Given the description of an element on the screen output the (x, y) to click on. 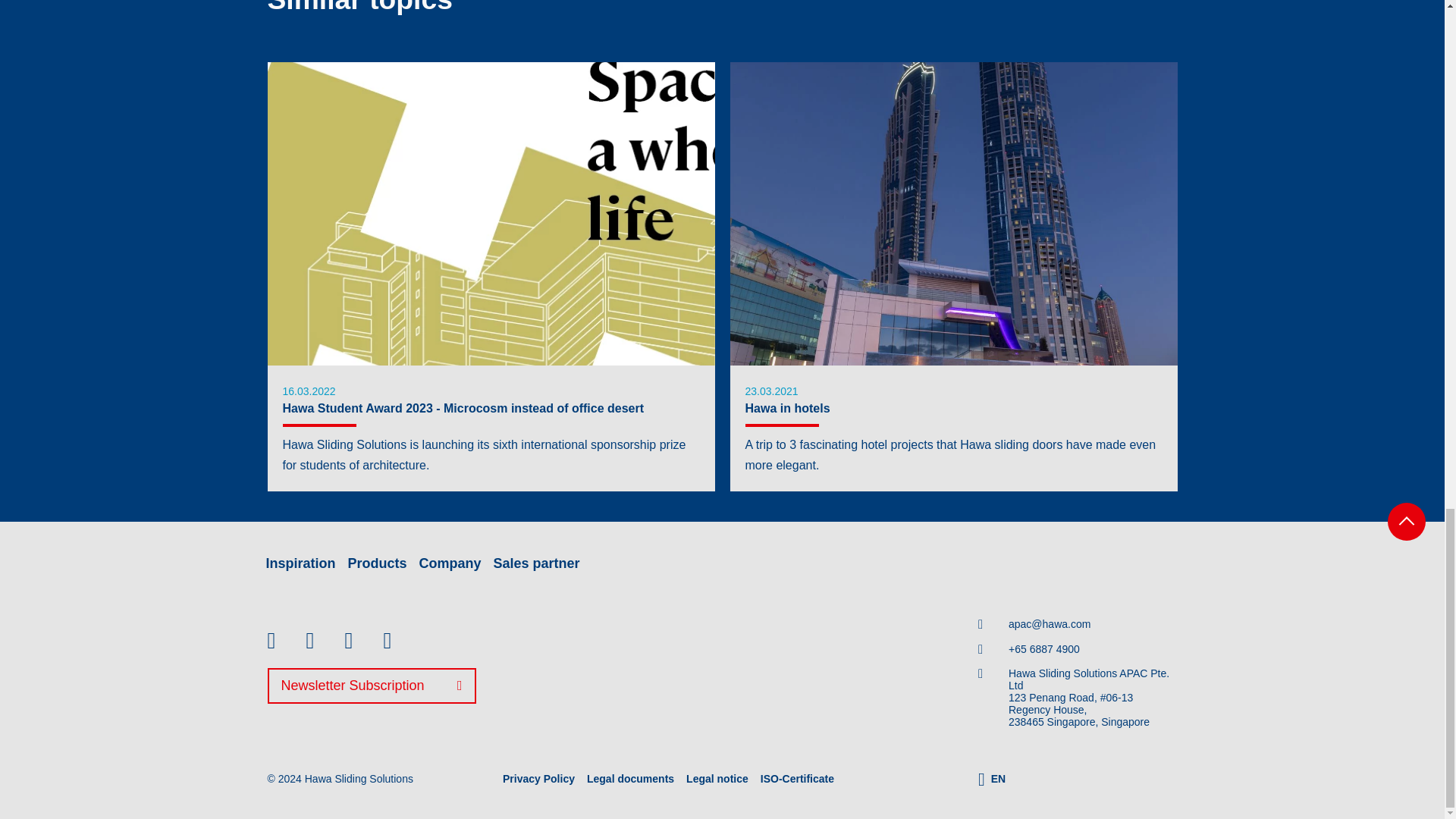
Inspiration (299, 563)
